Given the description of an element on the screen output the (x, y) to click on. 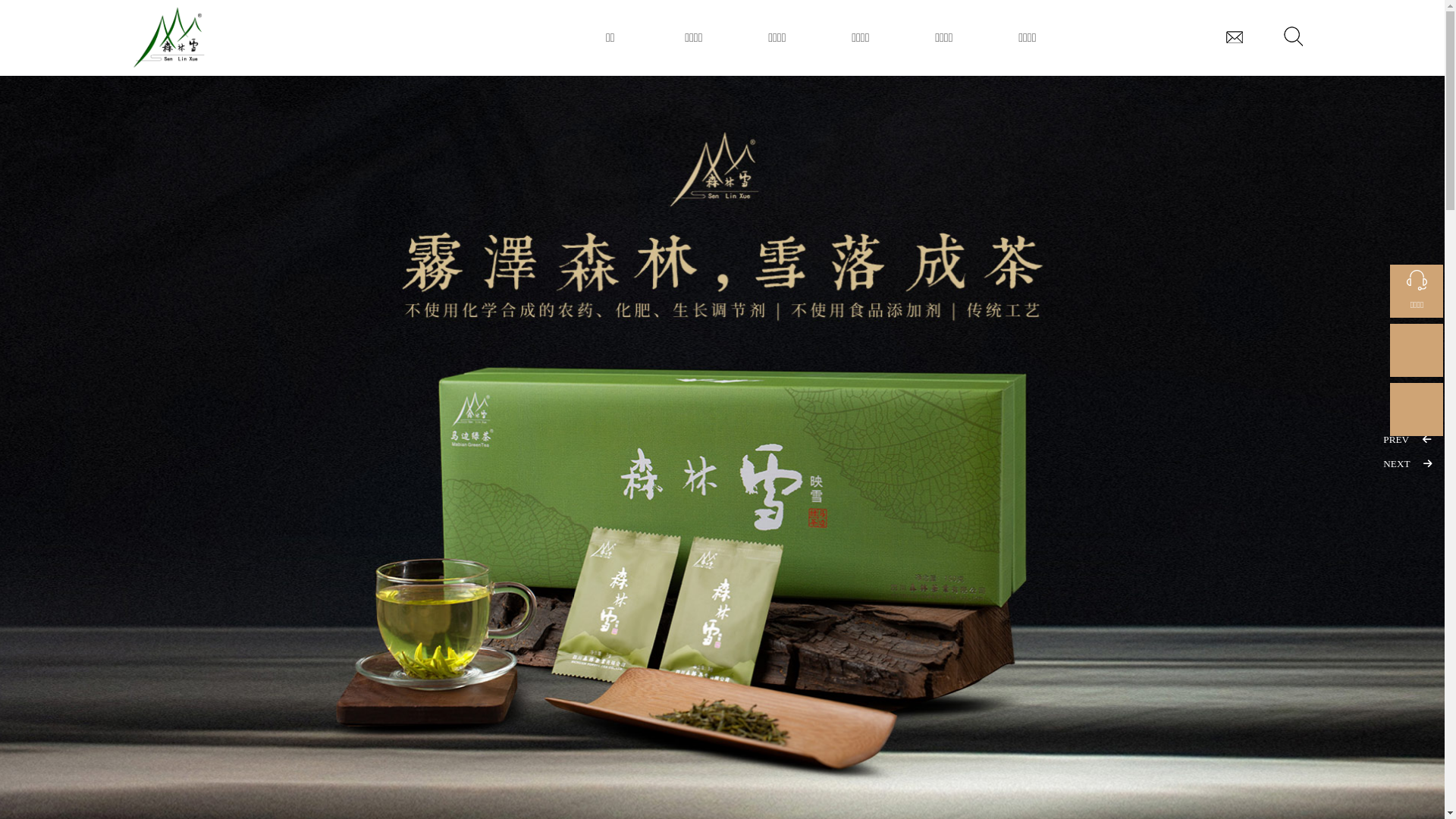
lsslcy@126.com Element type: hover (1234, 36)
